Given the description of an element on the screen output the (x, y) to click on. 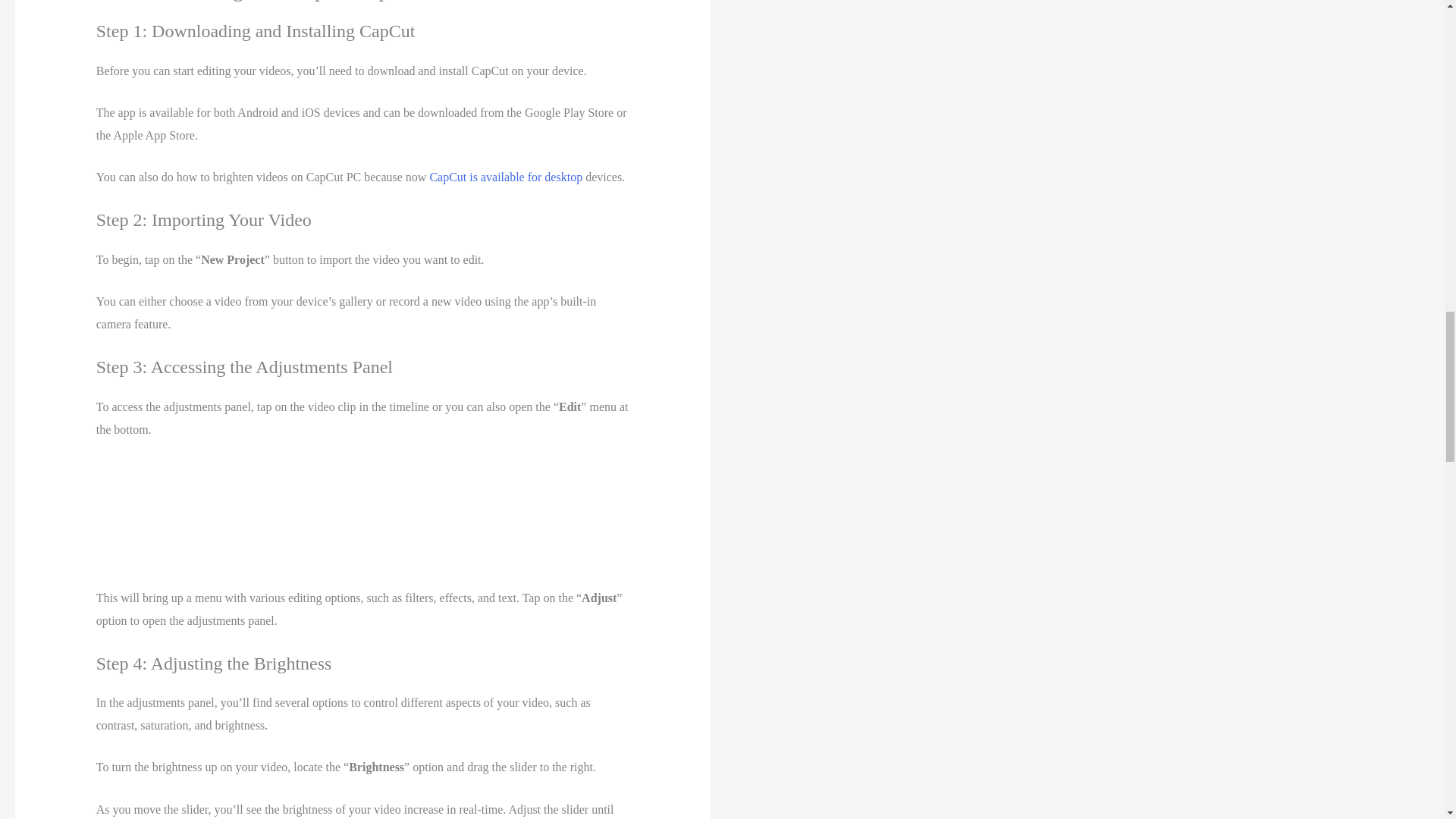
Advertisement (362, 519)
capcut for desktop (505, 176)
CapCut is available for desktop (505, 176)
